Given the description of an element on the screen output the (x, y) to click on. 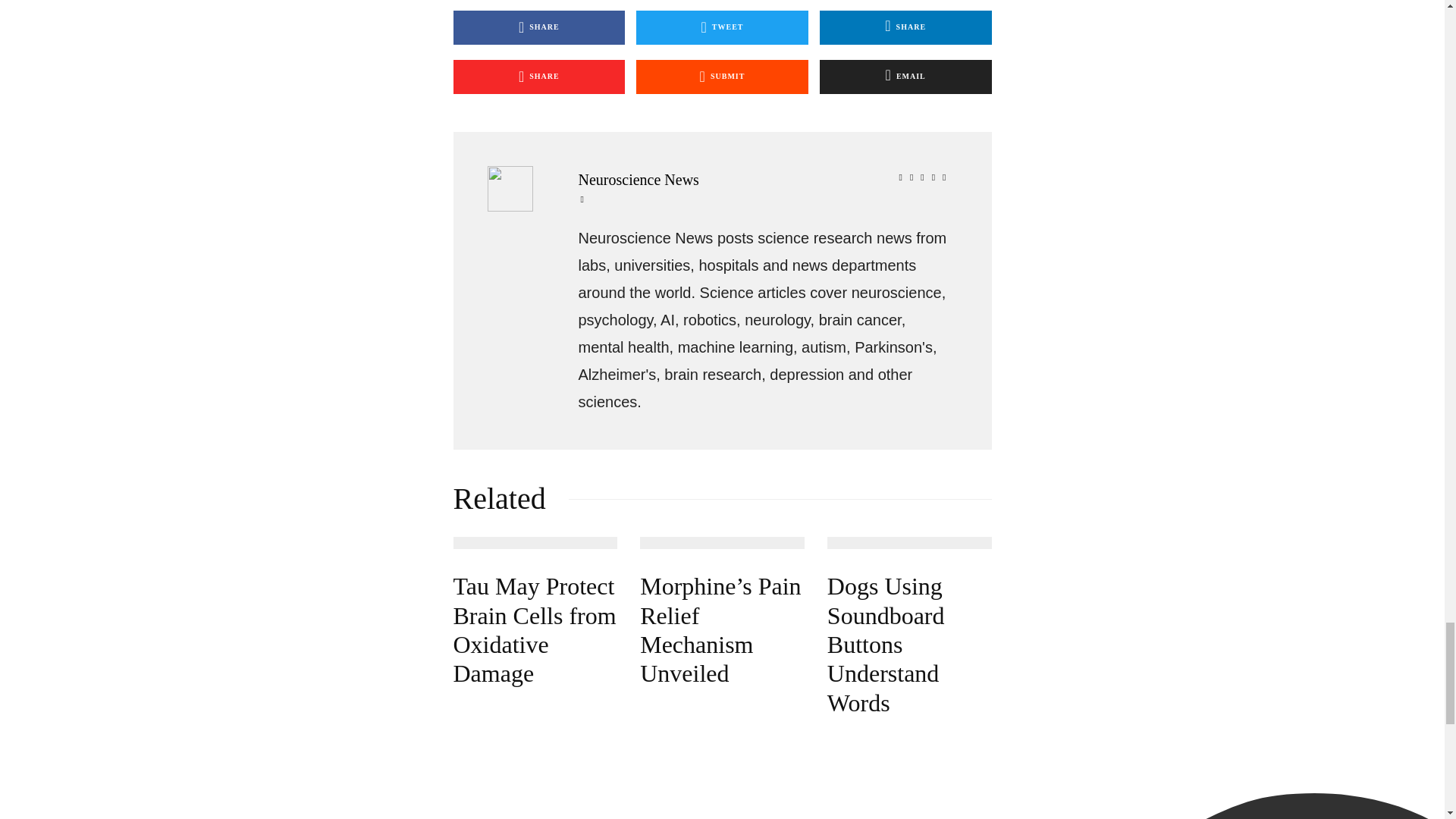
EMAIL (905, 76)
Neuroscience News (765, 179)
SUBMIT (722, 76)
TWEET (722, 27)
SHARE (539, 76)
SHARE (539, 27)
SHARE (905, 27)
